Given the description of an element on the screen output the (x, y) to click on. 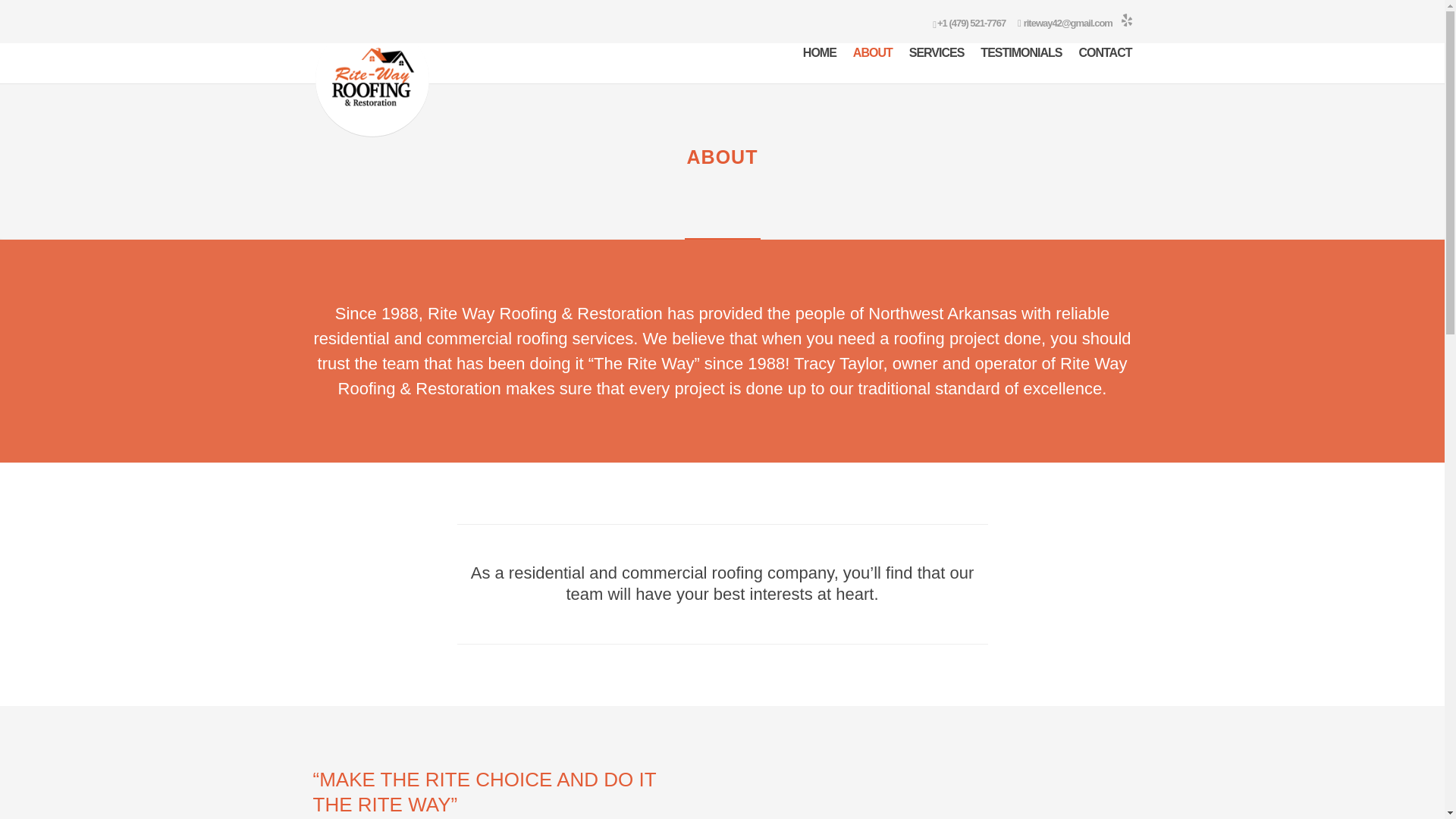
CONTACT (1104, 65)
HOME (819, 65)
TESTIMONIALS (1020, 65)
SERVICES (935, 65)
ABOUT (872, 65)
